Given the description of an element on the screen output the (x, y) to click on. 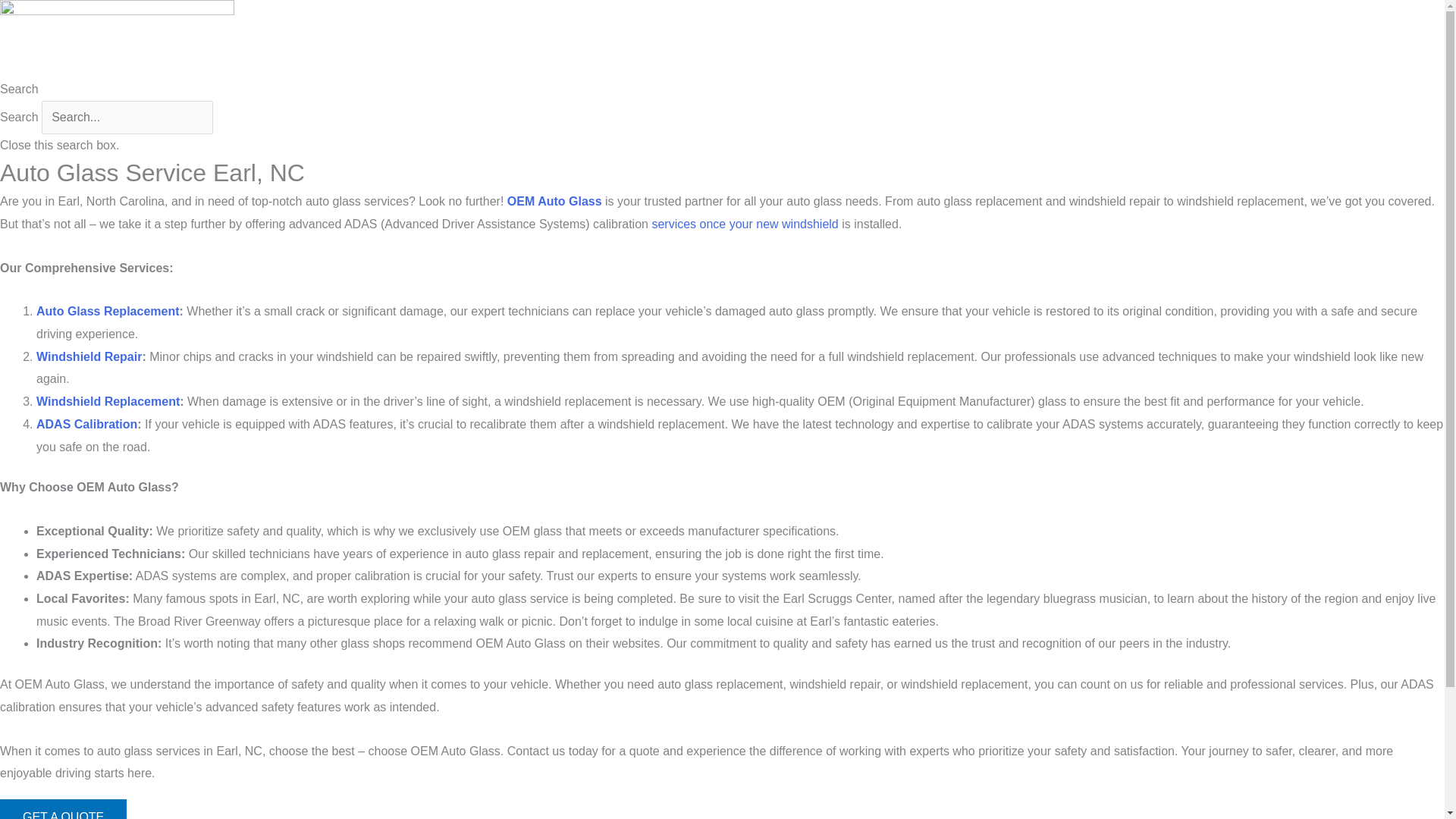
services once your new windshield (744, 223)
Auto Glass Replacement (107, 310)
OEM Auto Glass (554, 201)
Windshield Replacement (107, 400)
Windshield Repair (88, 356)
ADAS Calibration (86, 423)
Auto Glass Service Earl, NC (117, 38)
GET A QUOTE (63, 809)
